Given the description of an element on the screen output the (x, y) to click on. 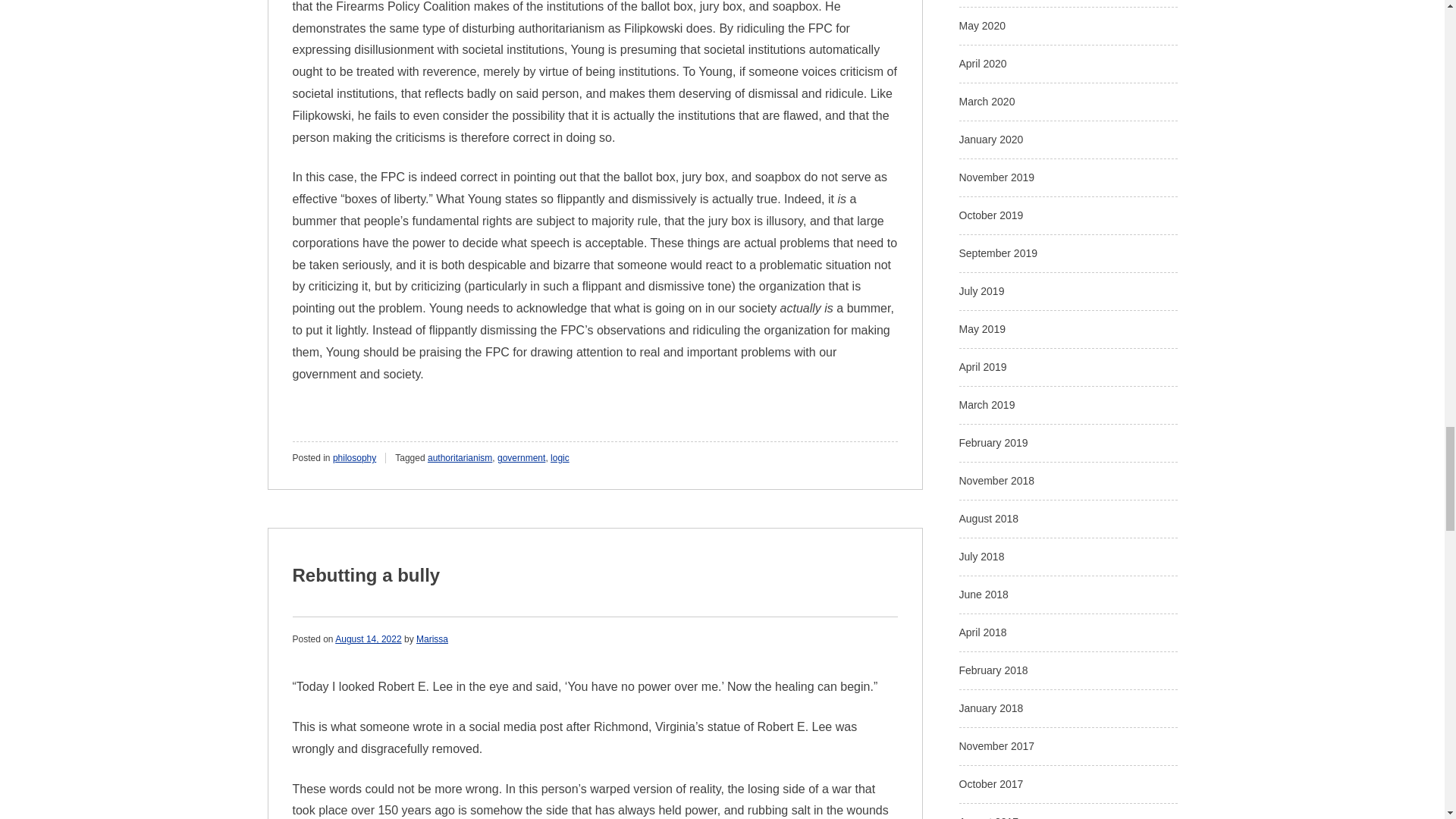
August 14, 2022 (367, 638)
authoritarianism (460, 457)
government (520, 457)
Rebutting a bully (366, 575)
Marissa (432, 638)
philosophy (354, 457)
logic (559, 457)
